Given the description of an element on the screen output the (x, y) to click on. 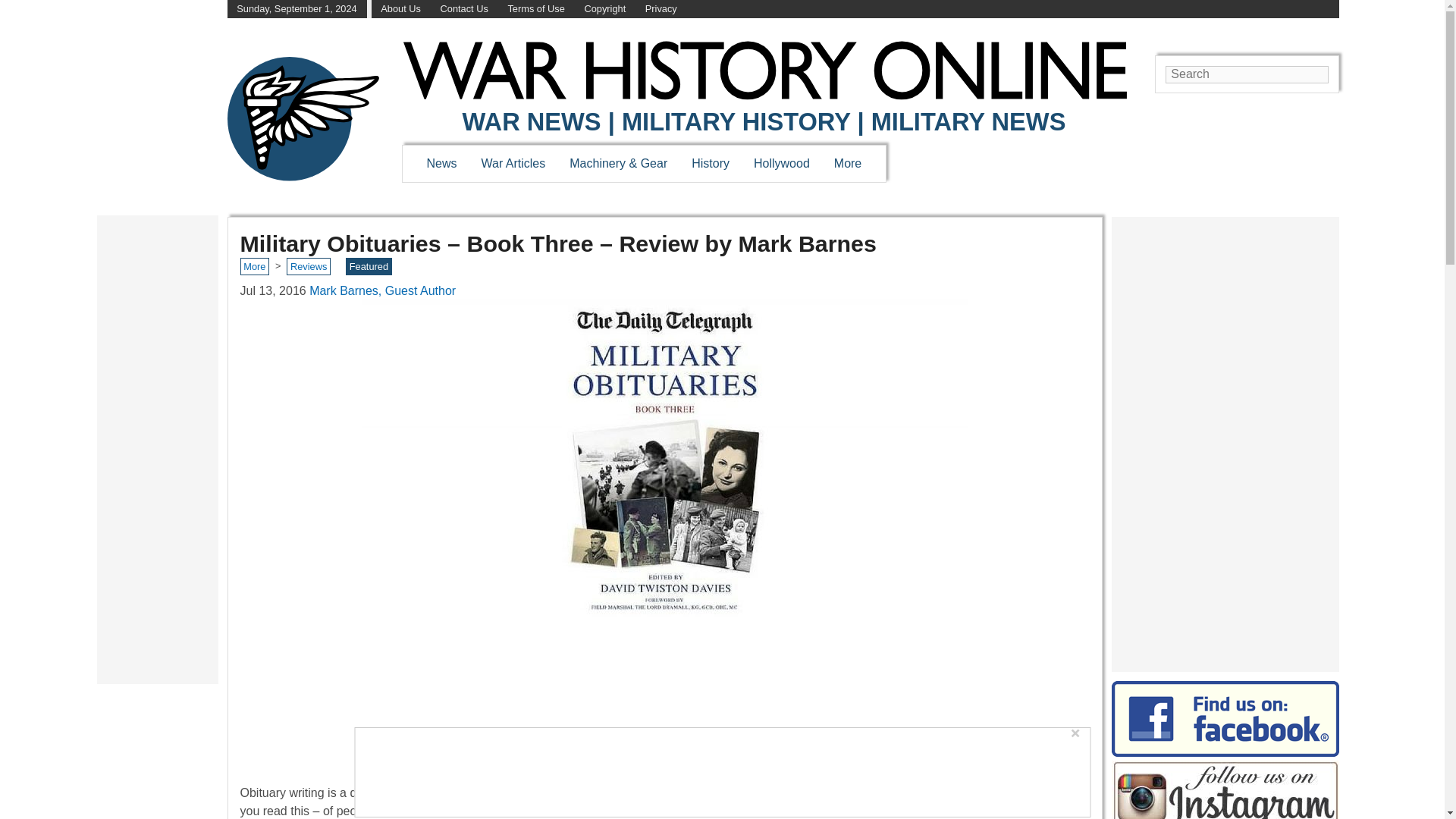
Privacy (661, 8)
War Articles (513, 163)
History (710, 163)
Terms of Use (535, 8)
Contact Us (464, 8)
Copyright (604, 8)
Hollywood (781, 163)
About Us (400, 8)
More (847, 163)
News (441, 163)
